Given the description of an element on the screen output the (x, y) to click on. 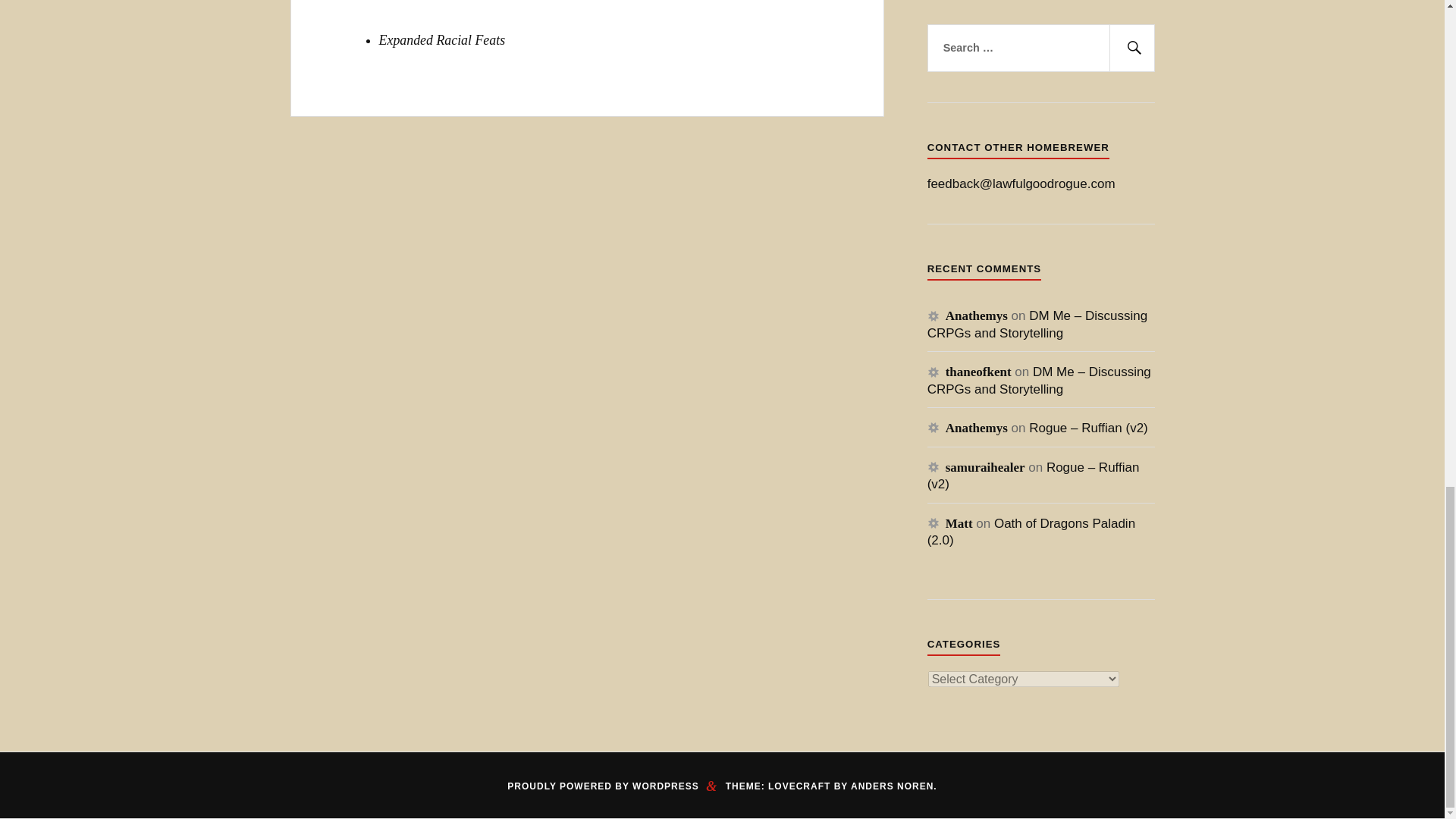
PROUDLY POWERED BY WORDPRESS (602, 786)
Search for: (1040, 48)
Anathemys (975, 315)
ANDERS NOREN (891, 786)
Search (1131, 48)
